Given the description of an element on the screen output the (x, y) to click on. 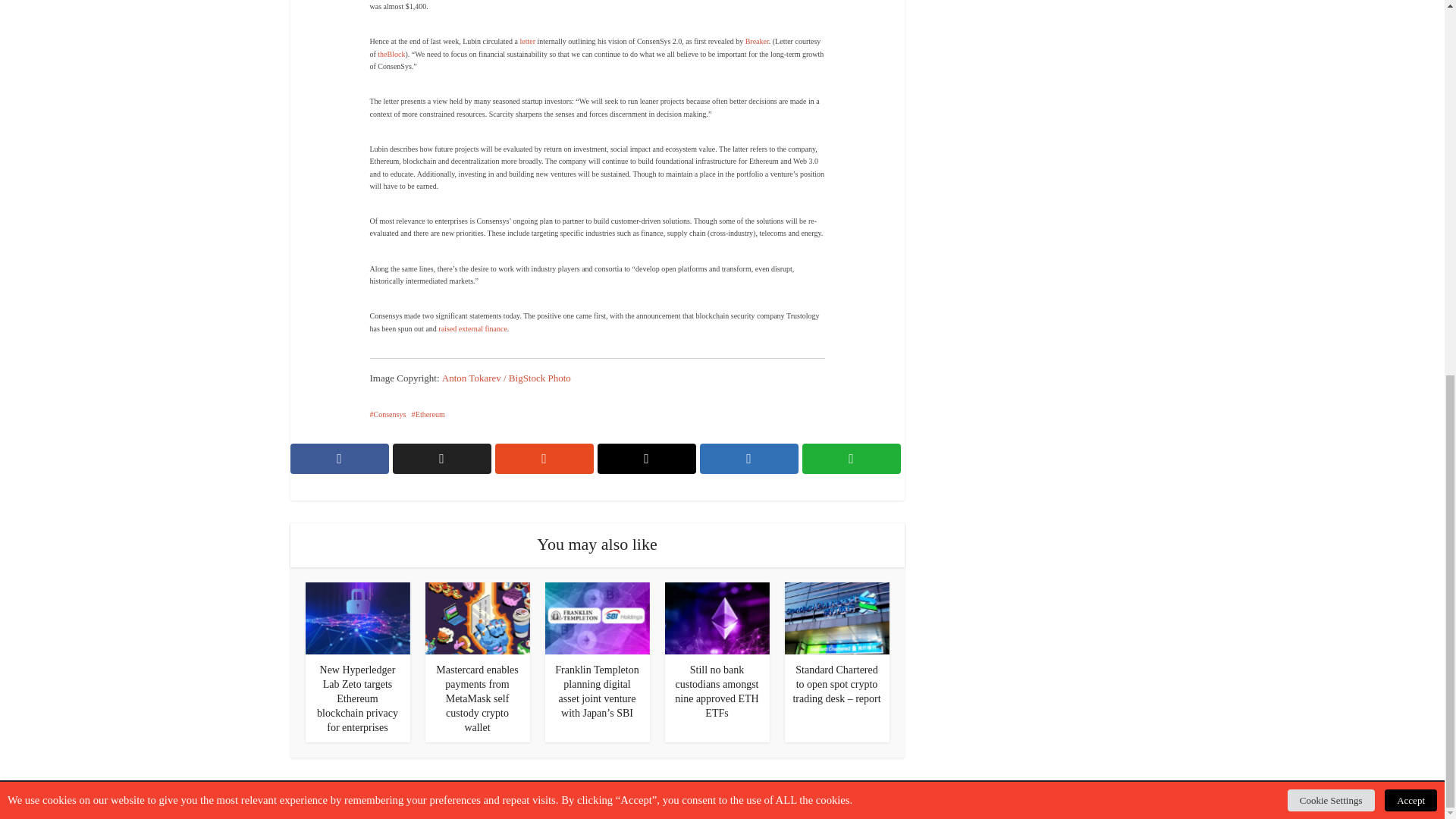
Still no bank custodians amongst nine approved ETH ETFs (715, 617)
Still no bank custodians amongst nine approved ETH ETFs (716, 691)
